Given the description of an element on the screen output the (x, y) to click on. 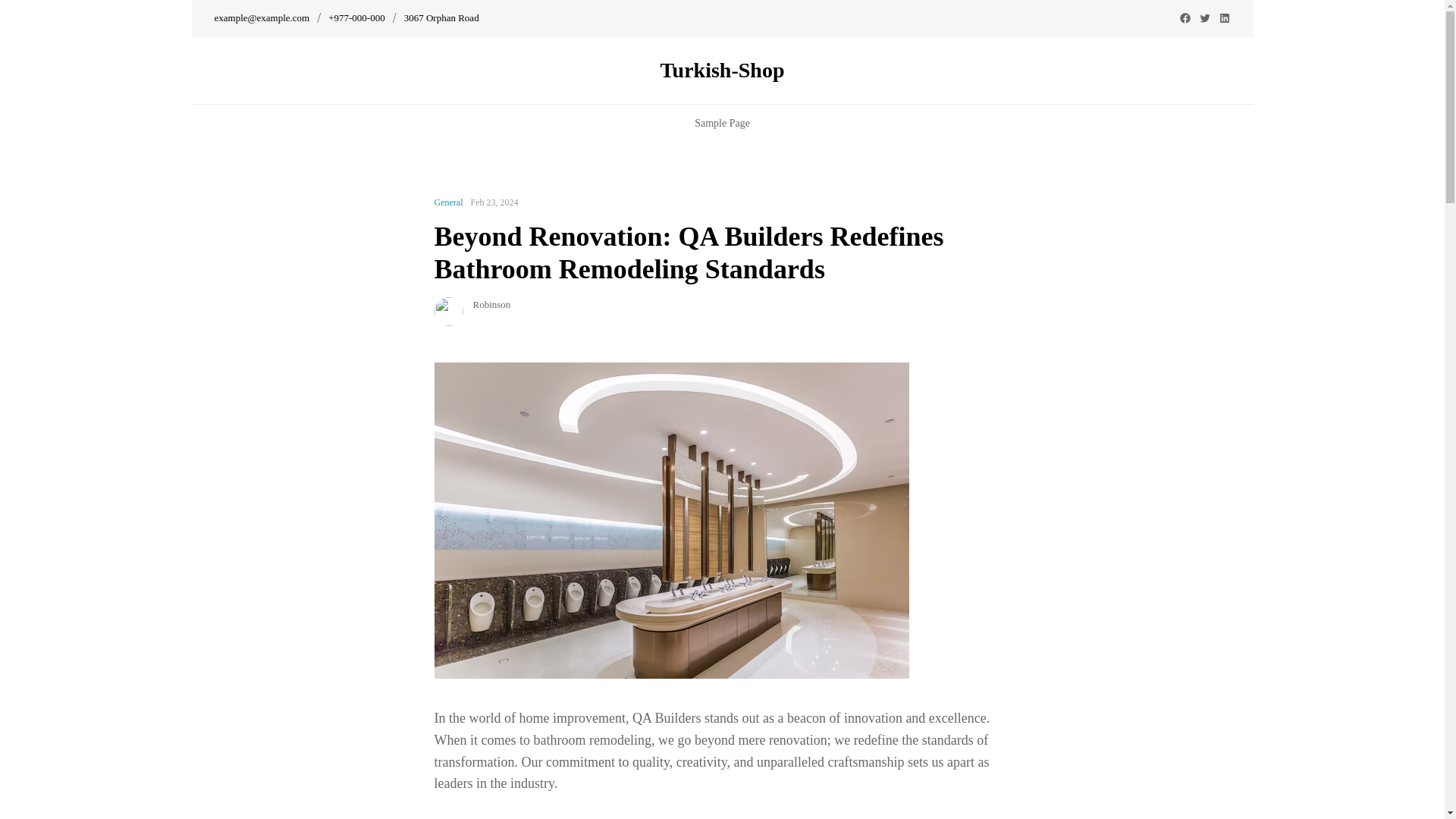
3067 Orphan Road (441, 17)
Sample Page (722, 123)
LinkedIn (1223, 18)
General (448, 202)
Turkish-Shop (722, 69)
Facebook (1184, 18)
Twitter (1203, 18)
